Given the description of an element on the screen output the (x, y) to click on. 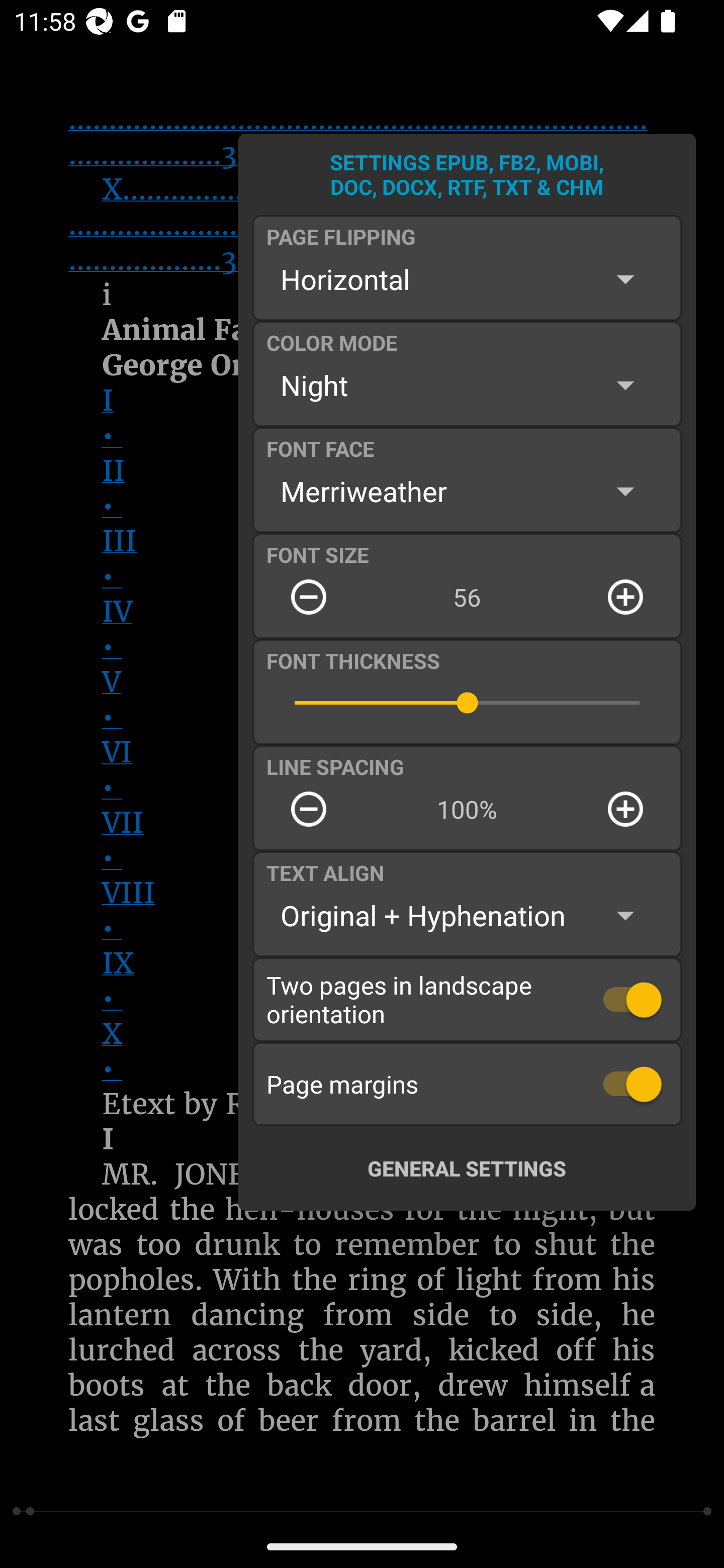
Horizontal (466, 278)
Night (466, 384)
Merriweather (466, 490)
Original + Hyphenation (466, 915)
Two pages in landscape orientation (467, 999)
Page margins (467, 1083)
GENERAL SETTINGS (466, 1167)
